Given the description of an element on the screen output the (x, y) to click on. 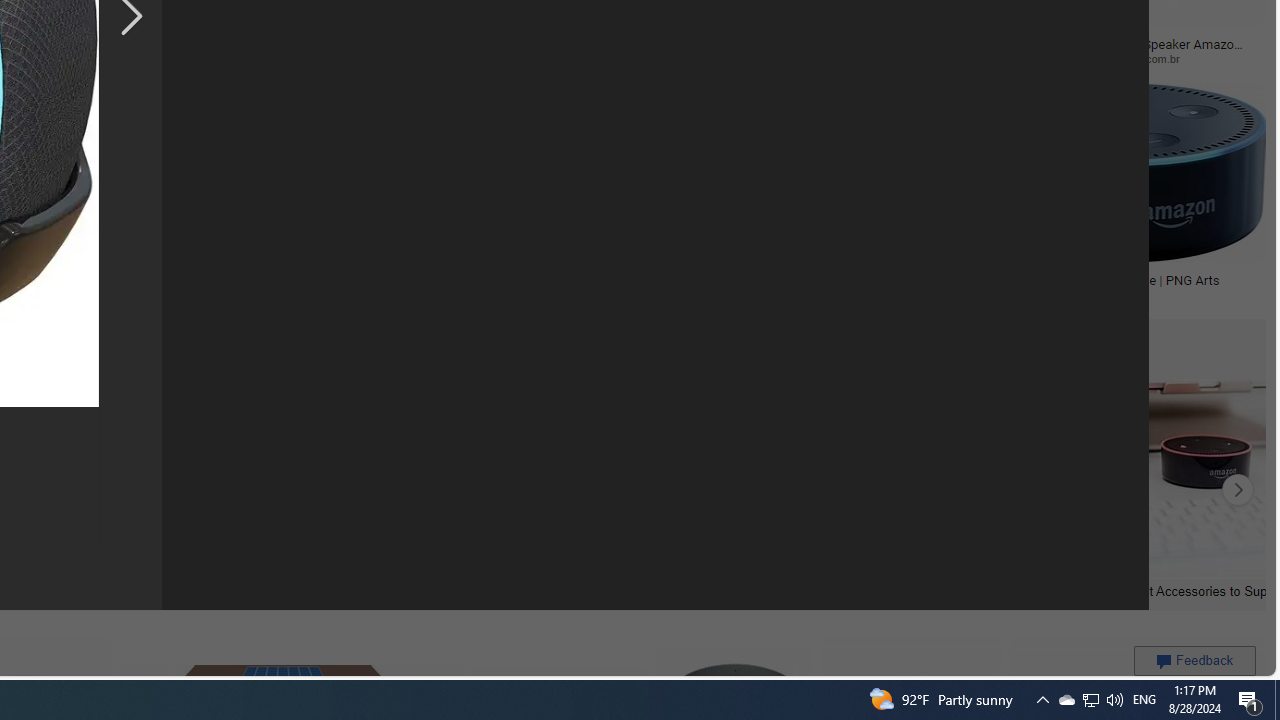
Amazonecho Dot With Alexa (Gen 4)pnghq.comSave (840, 196)
Alexa Dot Transparent Image | PNG Arts (1123, 279)
Echo Dot Accessories Echo Dot Accessories (175, 489)
